Given the description of an element on the screen output the (x, y) to click on. 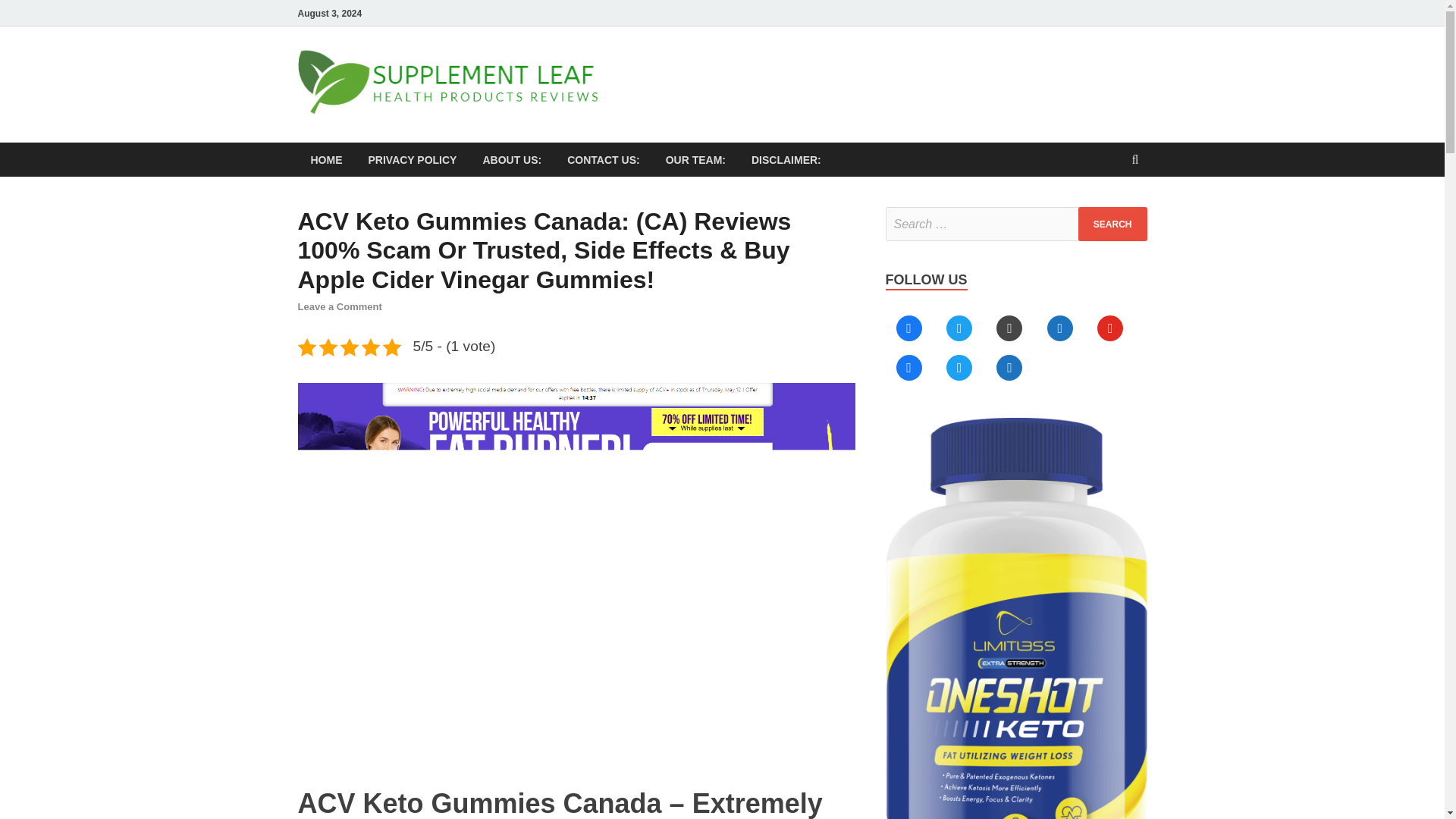
Default Label (1059, 327)
Default Label (959, 367)
Search (1112, 223)
Search (1112, 223)
Facebook (908, 327)
PRIVACY POLICY (411, 159)
Search (1112, 223)
DISCLAIMER: (786, 159)
ABOUT US: (511, 159)
Default Label (1008, 367)
HOME (326, 159)
Supplement Leaf (719, 78)
Default Label (1109, 327)
CONTACT US: (603, 159)
Twitter (959, 327)
